Given the description of an element on the screen output the (x, y) to click on. 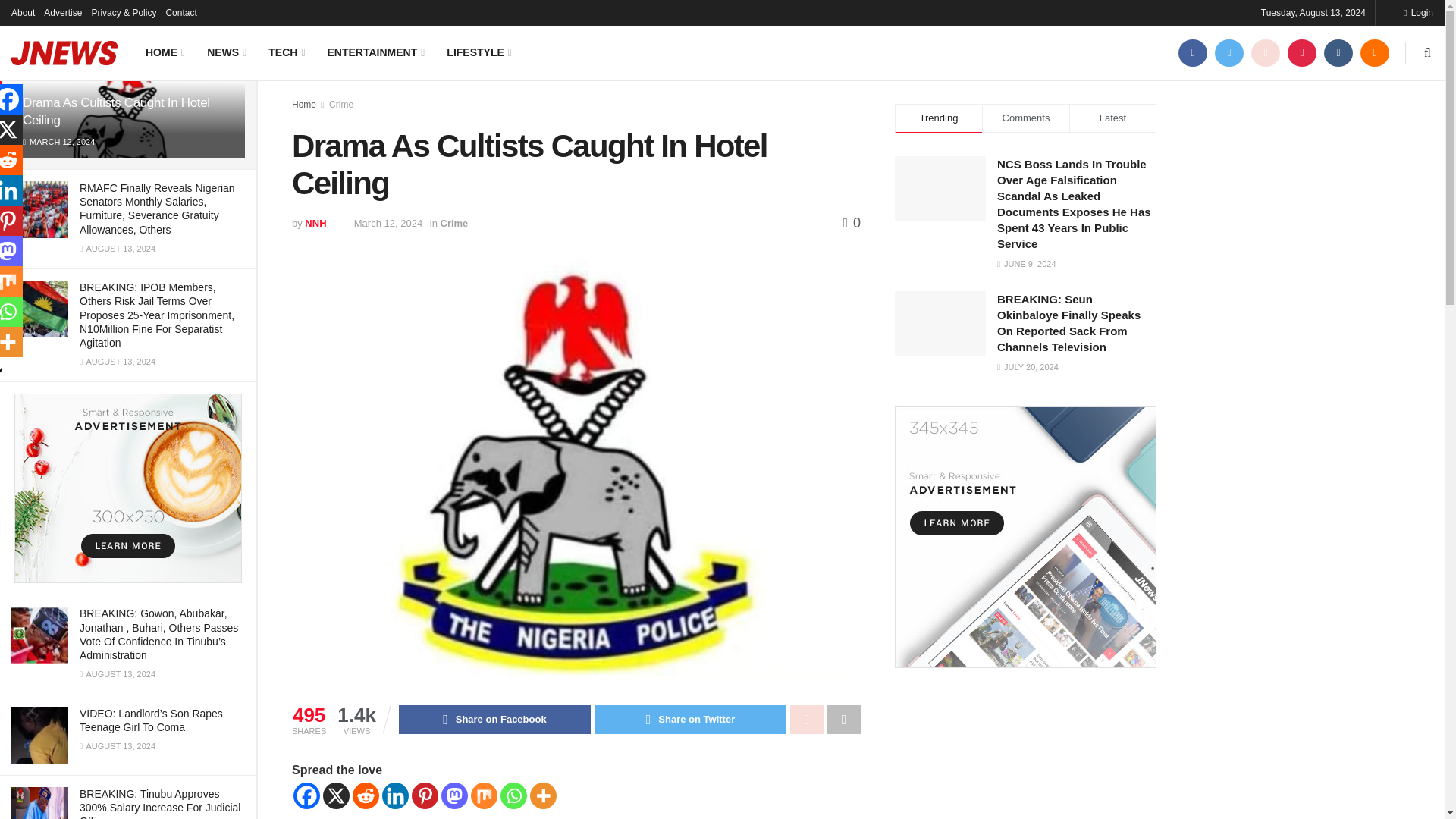
Whatsapp (513, 795)
Linkedin (395, 795)
Mastodon (454, 795)
Drama As Cultists Caught In Hotel Ceiling (116, 111)
X (336, 795)
Pinterest (425, 795)
Reddit (365, 795)
Filter (227, 13)
